Given the description of an element on the screen output the (x, y) to click on. 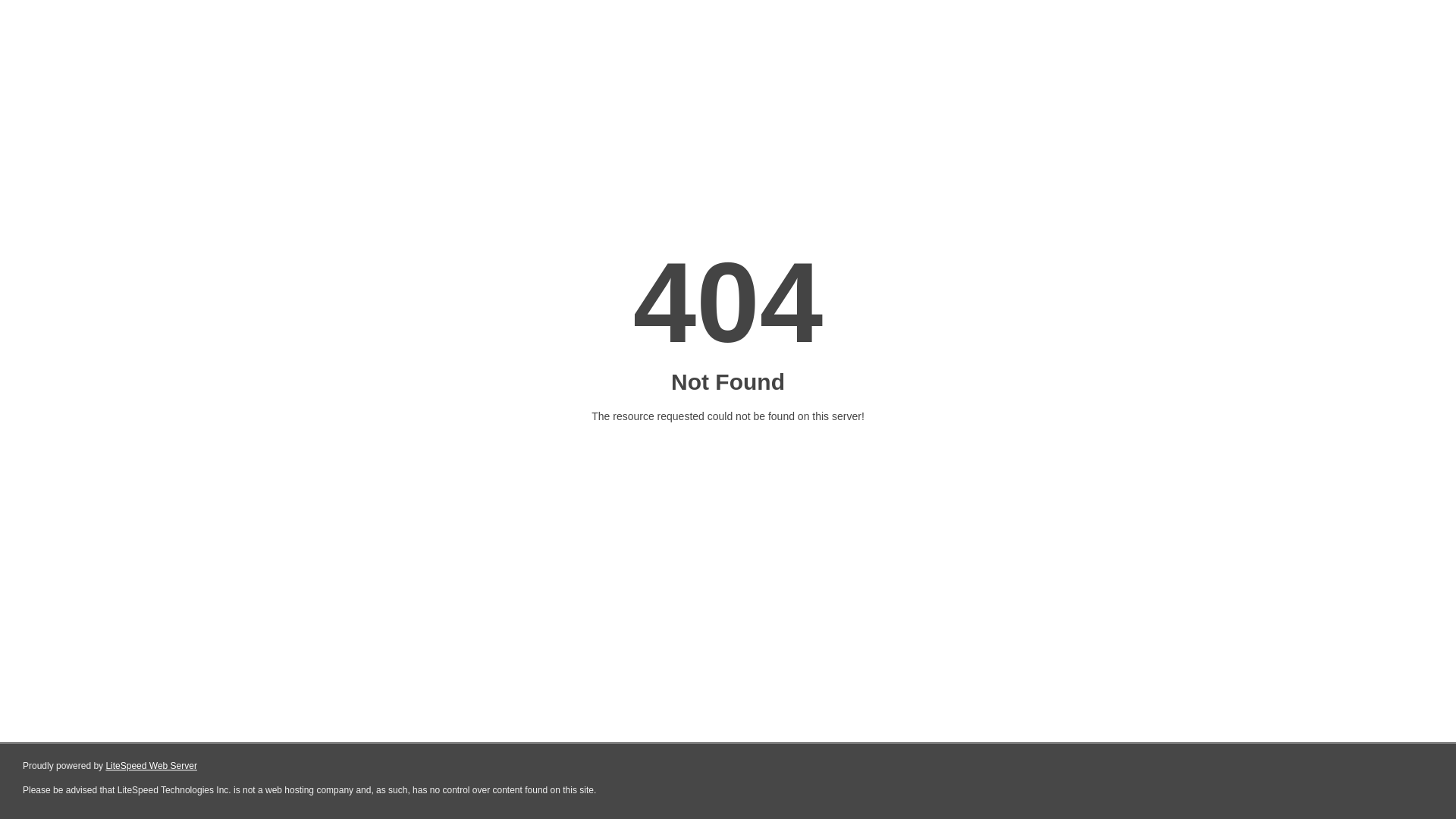
LiteSpeed Web Server Element type: text (151, 765)
